Given the description of an element on the screen output the (x, y) to click on. 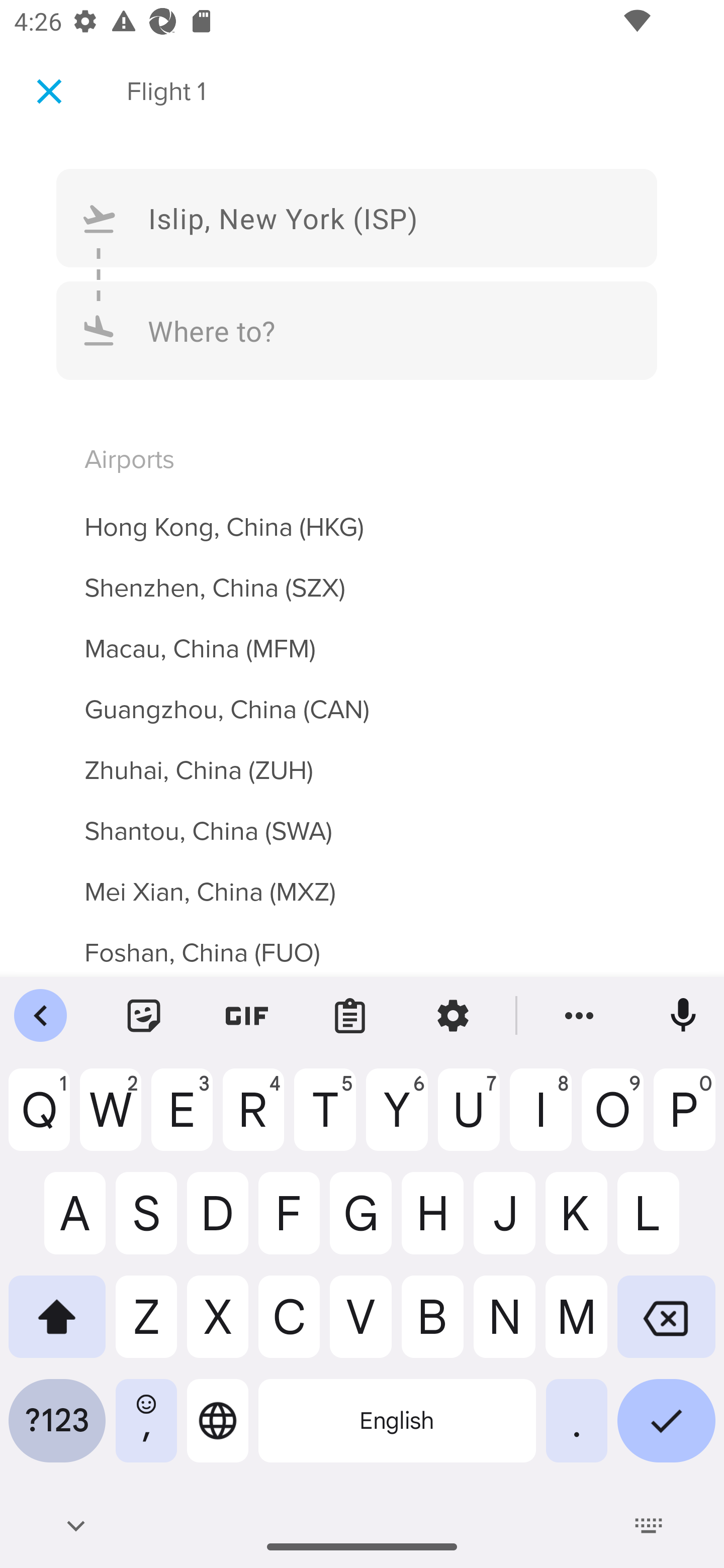
Cancel (49, 90)
Islip, New York (ISP) (356, 218)
Where to? (356, 329)
Hong Kong, China (HKG) (361, 515)
Shenzhen, China (SZX) (361, 575)
Macau, China (MFM) (361, 636)
Guangzhou, China (CAN) (361, 698)
Zhuhai, China (ZUH) (361, 759)
Shantou, China (SWA) (361, 819)
Mei Xian, China (MXZ) (361, 880)
Foshan, China (FUO) (361, 943)
